Given the description of an element on the screen output the (x, y) to click on. 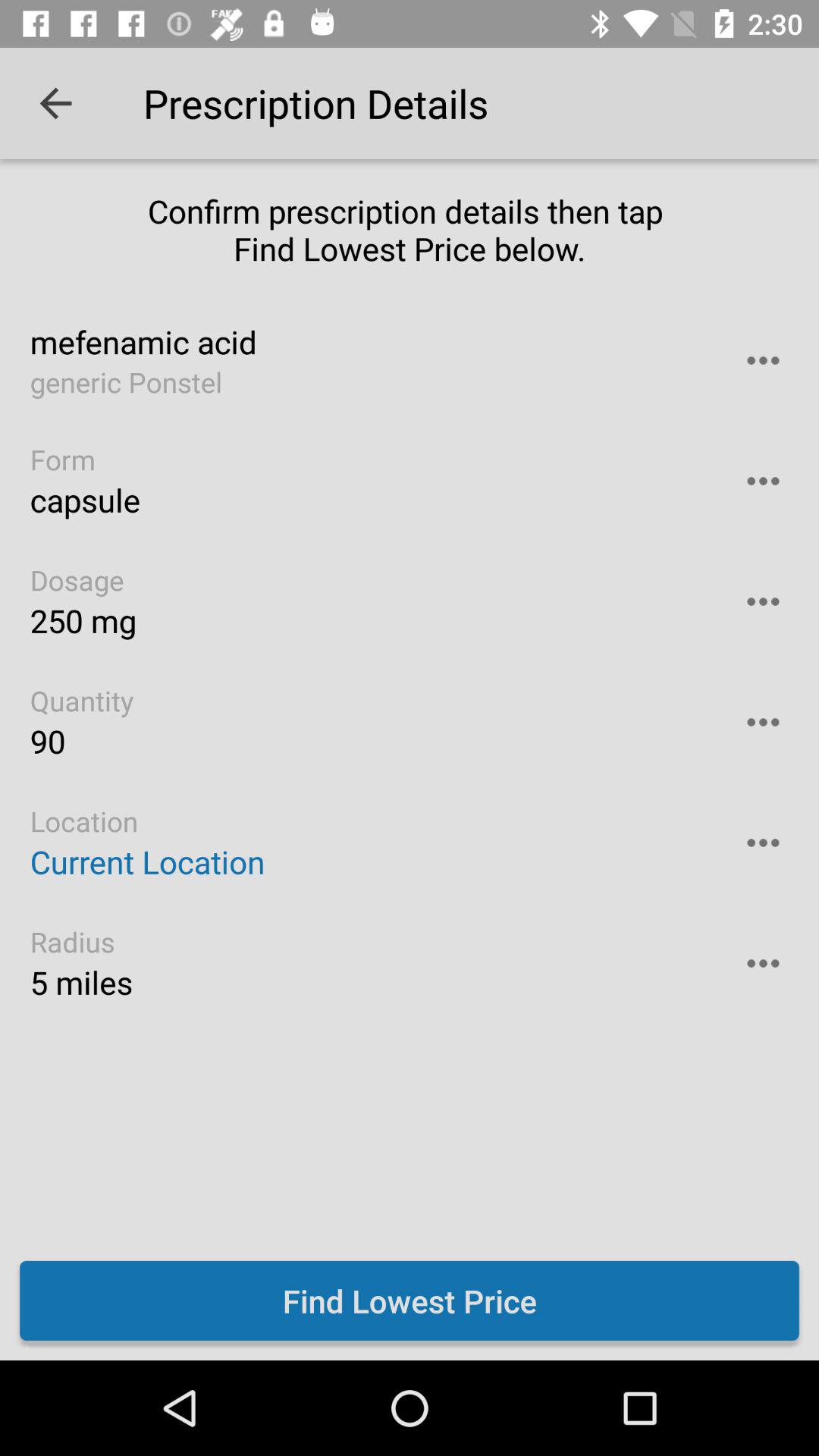
tap item above confirm prescription details (55, 103)
